Given the description of an element on the screen output the (x, y) to click on. 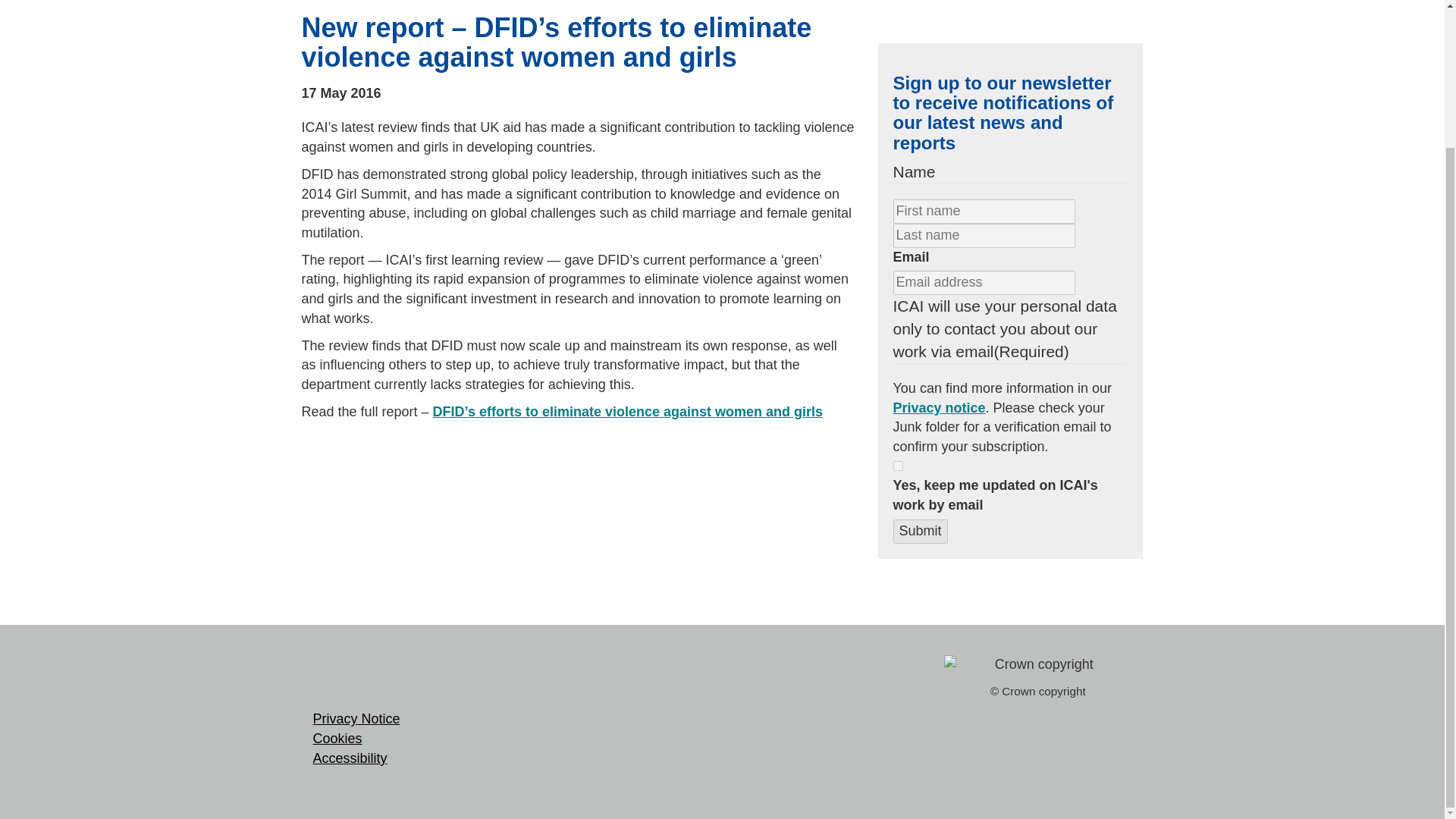
Submit (920, 531)
Cookies (337, 738)
Privacy notice (939, 407)
Submit (920, 531)
Yes, keep me updated on ICAI's work by email (897, 465)
ICAI on LinkedIn (375, 677)
ICAI on Twitter (331, 677)
Privacy Notice (355, 718)
Accessibility (350, 758)
